Given the description of an element on the screen output the (x, y) to click on. 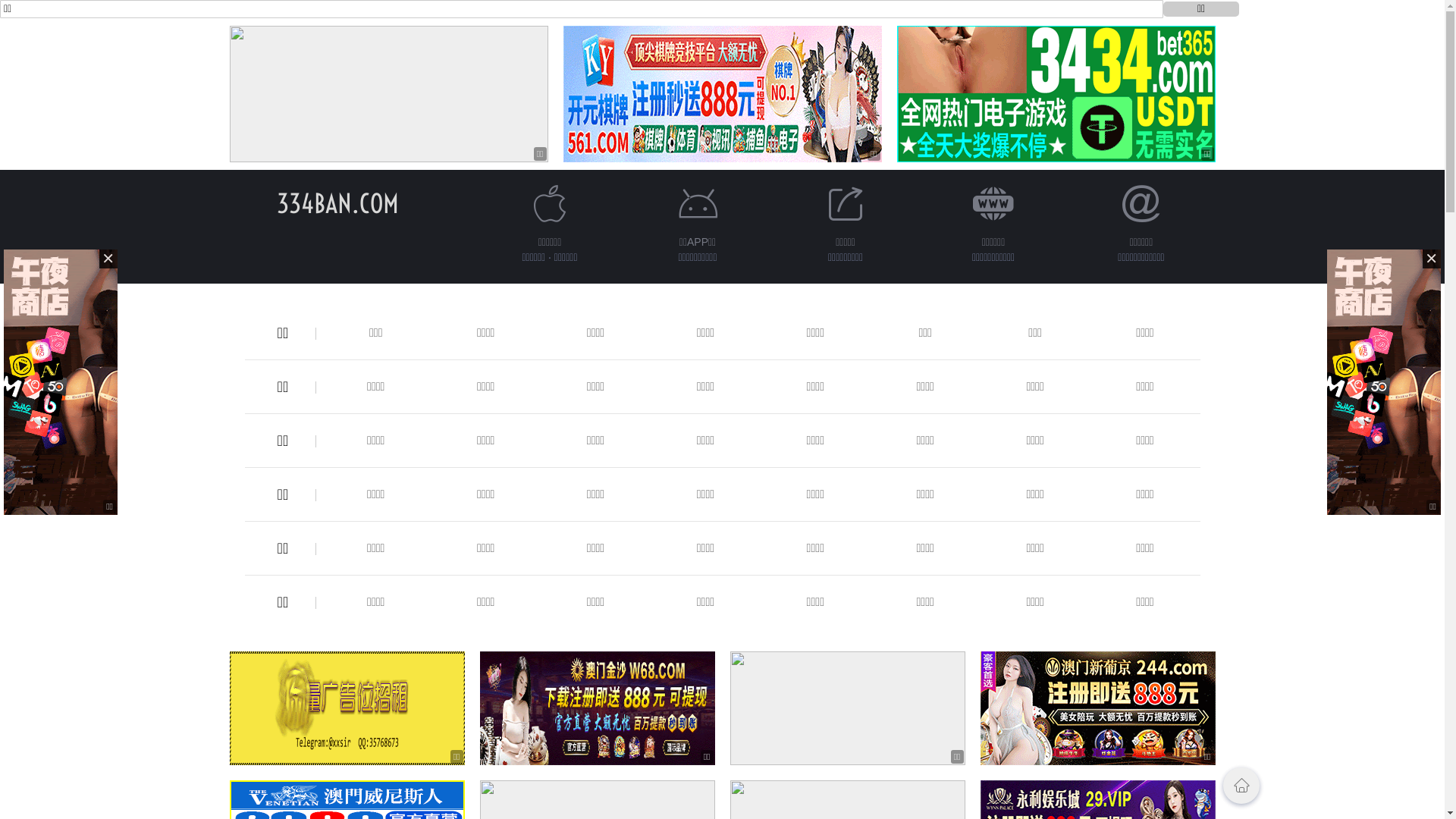
334BAN.COM Element type: text (337, 203)
